Given the description of an element on the screen output the (x, y) to click on. 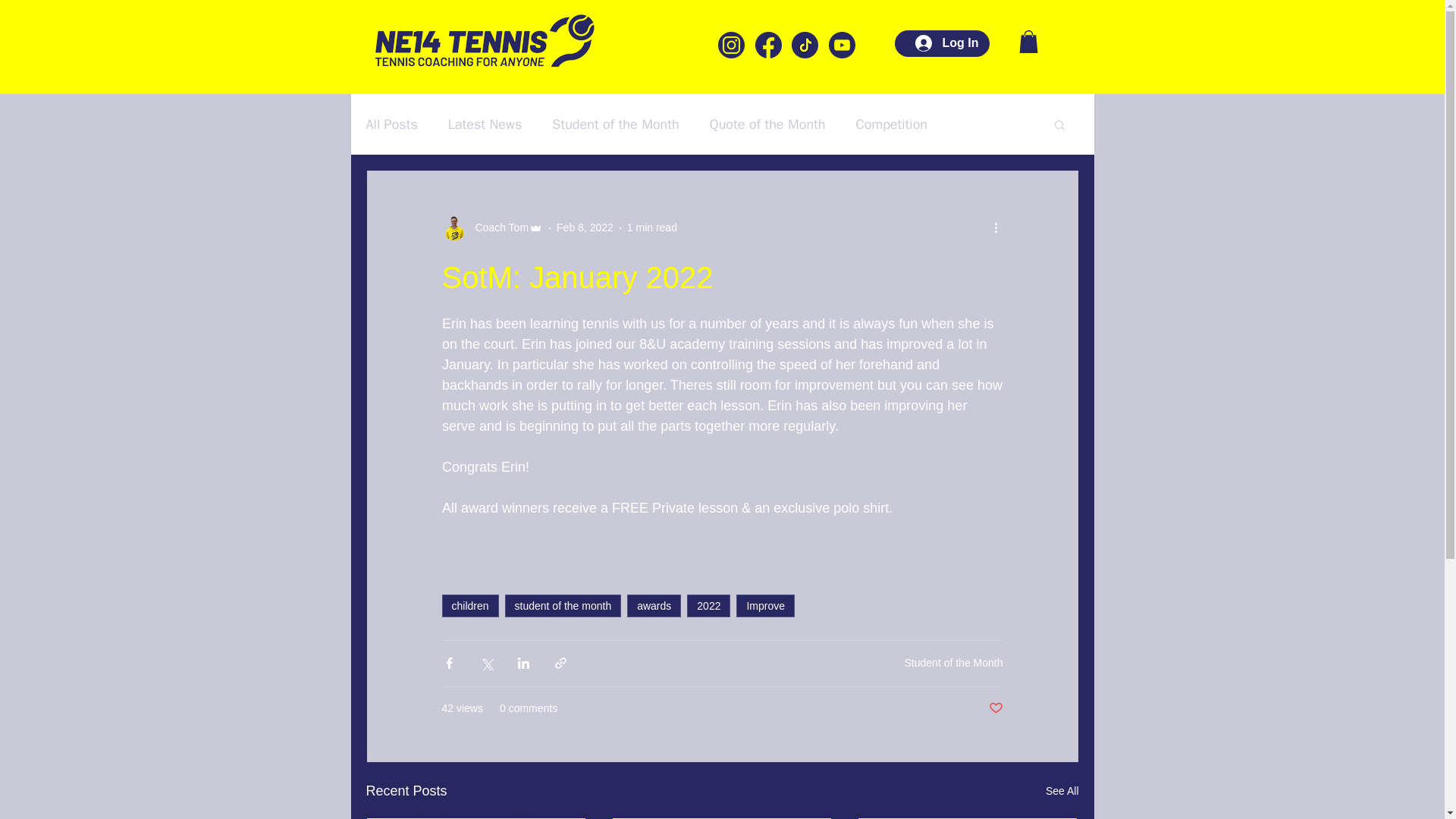
awards (654, 605)
2022 (708, 605)
Latest News (484, 124)
Feb 8, 2022 (584, 227)
Student of the Month (615, 124)
Competition (892, 124)
Log In (947, 43)
Coach Tom (496, 227)
Post not marked as liked (995, 708)
student of the month (563, 605)
